Given the description of an element on the screen output the (x, y) to click on. 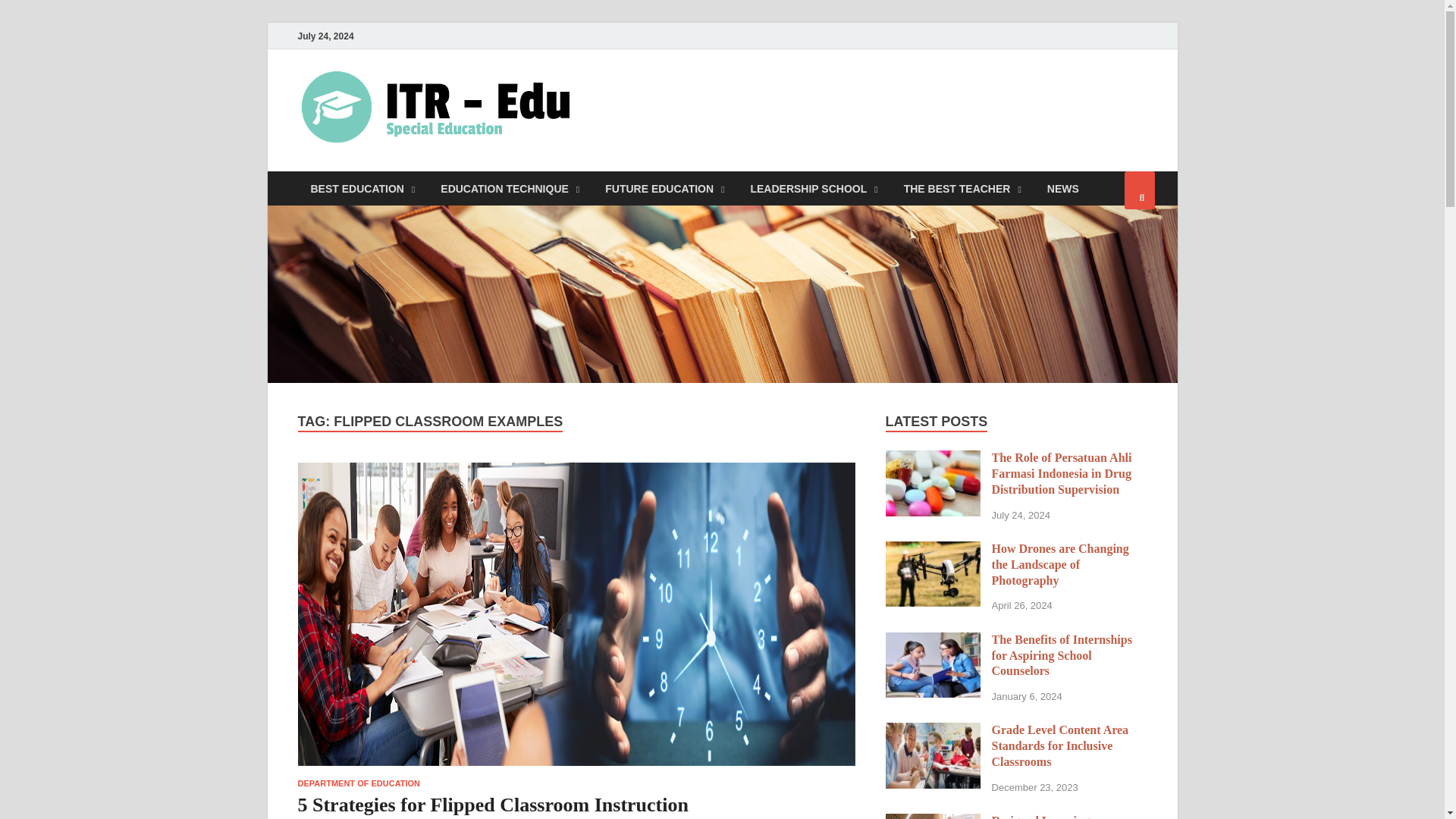
EDUCATION TECHNIQUE (510, 188)
LEADERSHIP SCHOOL (812, 188)
Designed Learning Environments For The Future (932, 817)
The Benefits of Internships for Aspiring School Counselors (932, 640)
NEWS (1062, 188)
FUTURE EDUCATION (664, 188)
Grade Level Content Area Standards for Inclusive Classrooms (932, 730)
How Drones are Changing the Landscape of Photography (932, 549)
